Given the description of an element on the screen output the (x, y) to click on. 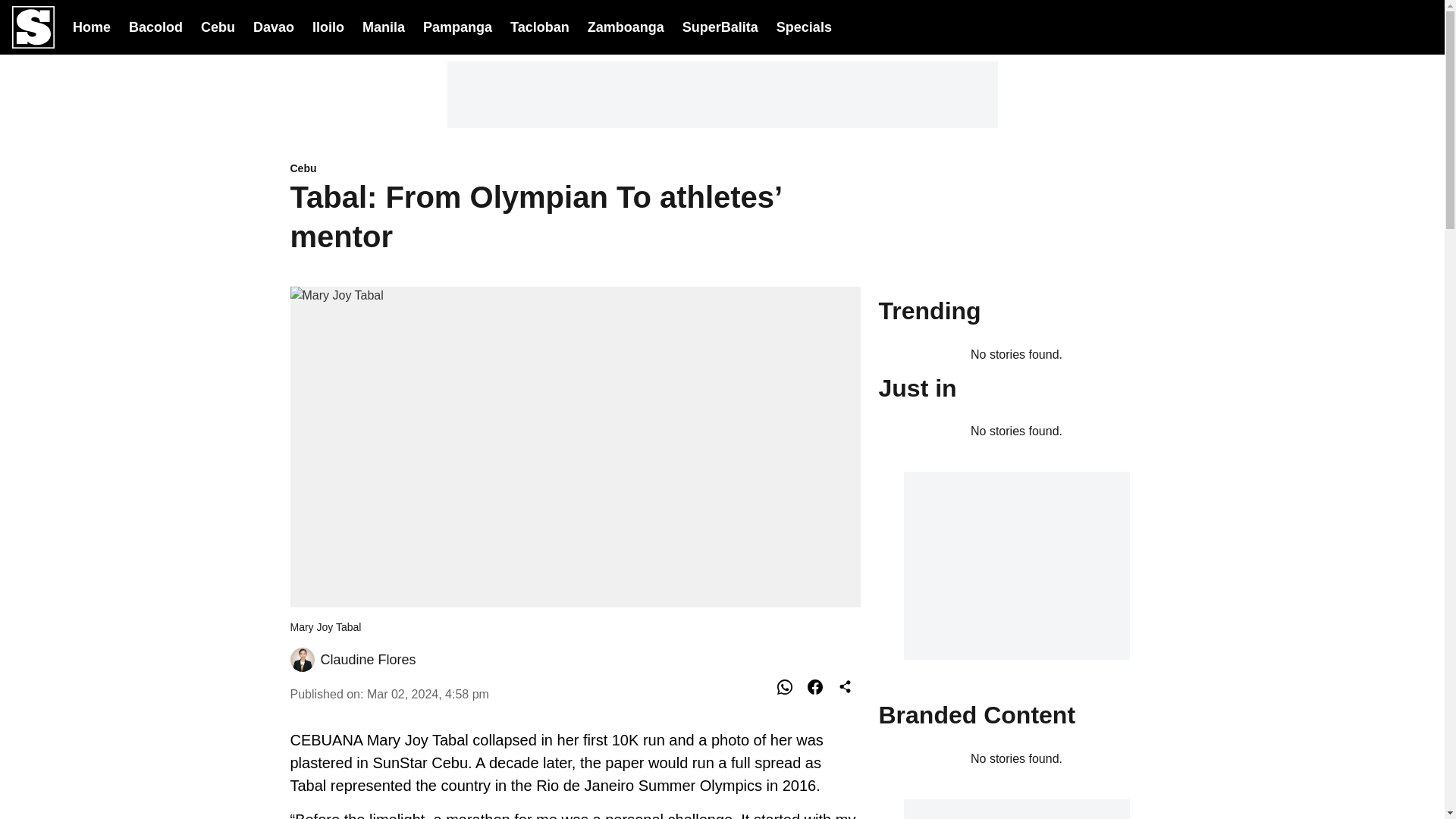
Dark Mode (1382, 27)
Cebu (217, 26)
Bacolod (156, 26)
Zamboanga (625, 26)
Iloilo (328, 26)
Claudine Flores (367, 659)
Manila (383, 26)
Tacloban (540, 26)
2024-03-02 08:58 (427, 693)
